Given the description of an element on the screen output the (x, y) to click on. 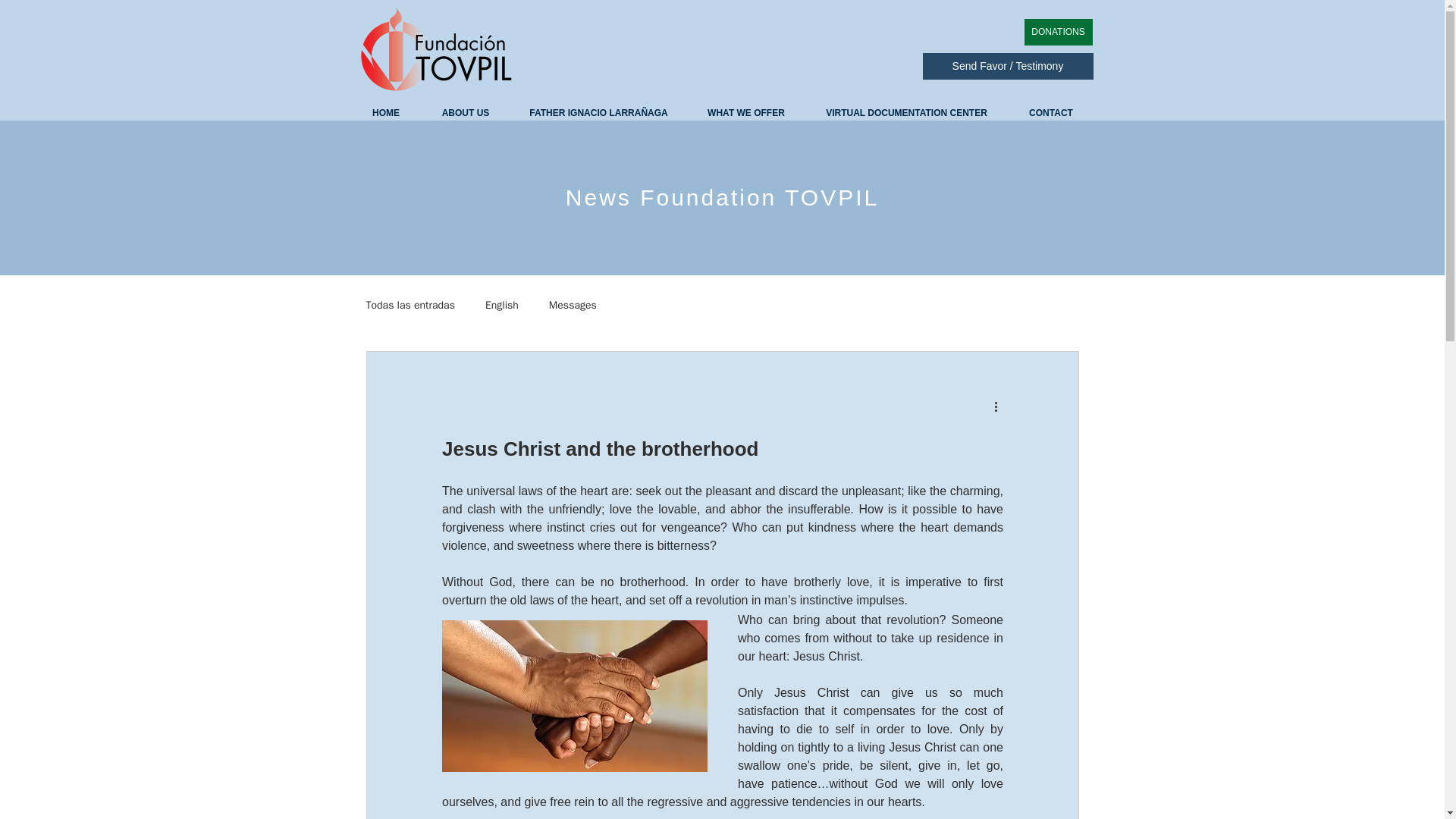
English (501, 305)
CONTACT (1051, 112)
Messages (572, 305)
VIRTUAL DOCUMENTATION CENTER (907, 112)
HOME (385, 112)
DONATIONS (1057, 31)
WHAT WE OFFER (746, 112)
Todas las entradas (409, 305)
ABOUT US (466, 112)
